Given the description of an element on the screen output the (x, y) to click on. 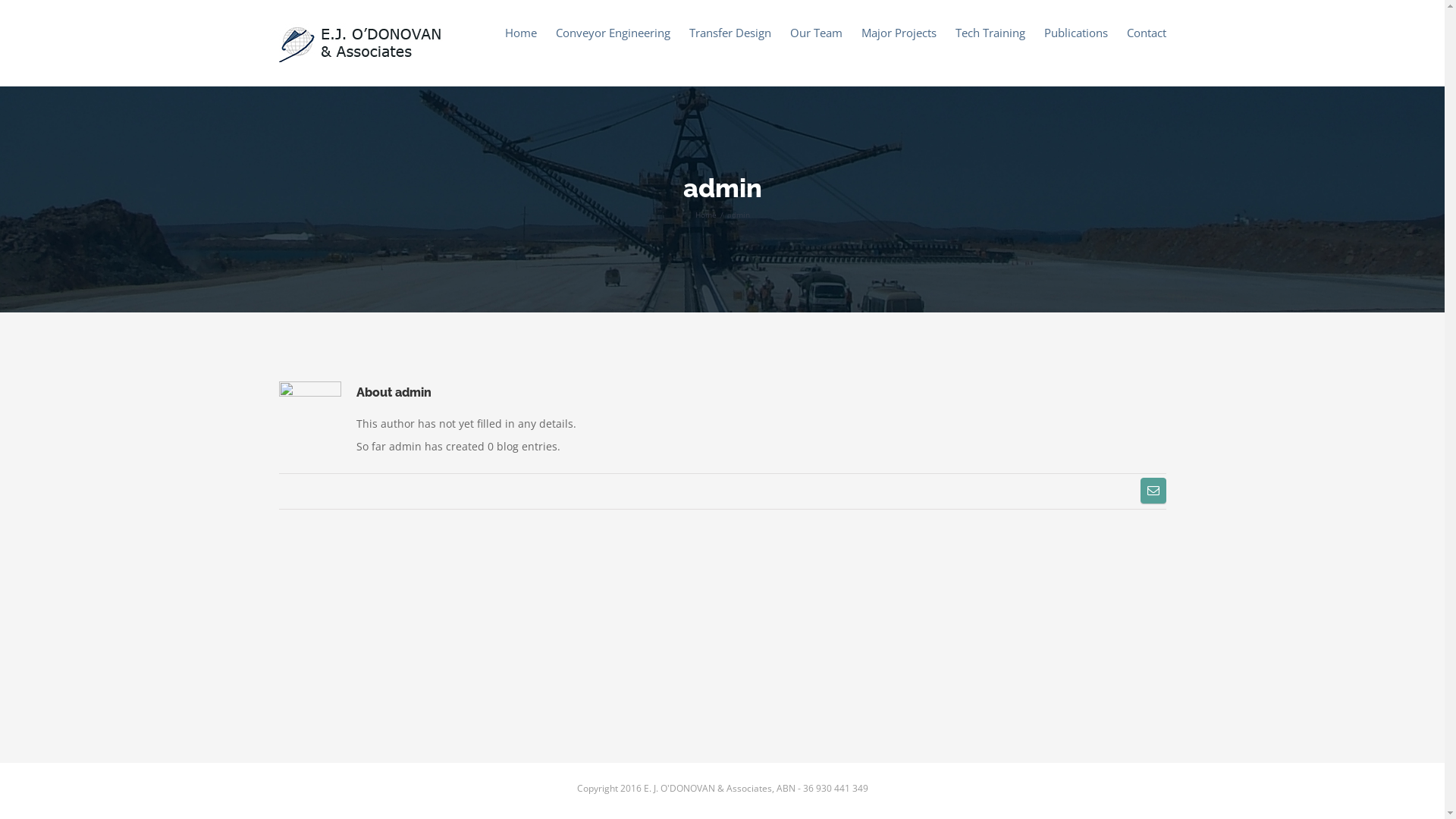
Email Element type: hover (1153, 490)
Major Projects Element type: text (898, 32)
Home Element type: text (704, 214)
Tech Training Element type: text (990, 32)
Transfer Design Element type: text (729, 32)
Contact Element type: text (1146, 32)
Home Element type: text (520, 32)
Conveyor Engineering Element type: text (612, 32)
Publications Element type: text (1075, 32)
Our Team Element type: text (816, 32)
